Given the description of an element on the screen output the (x, y) to click on. 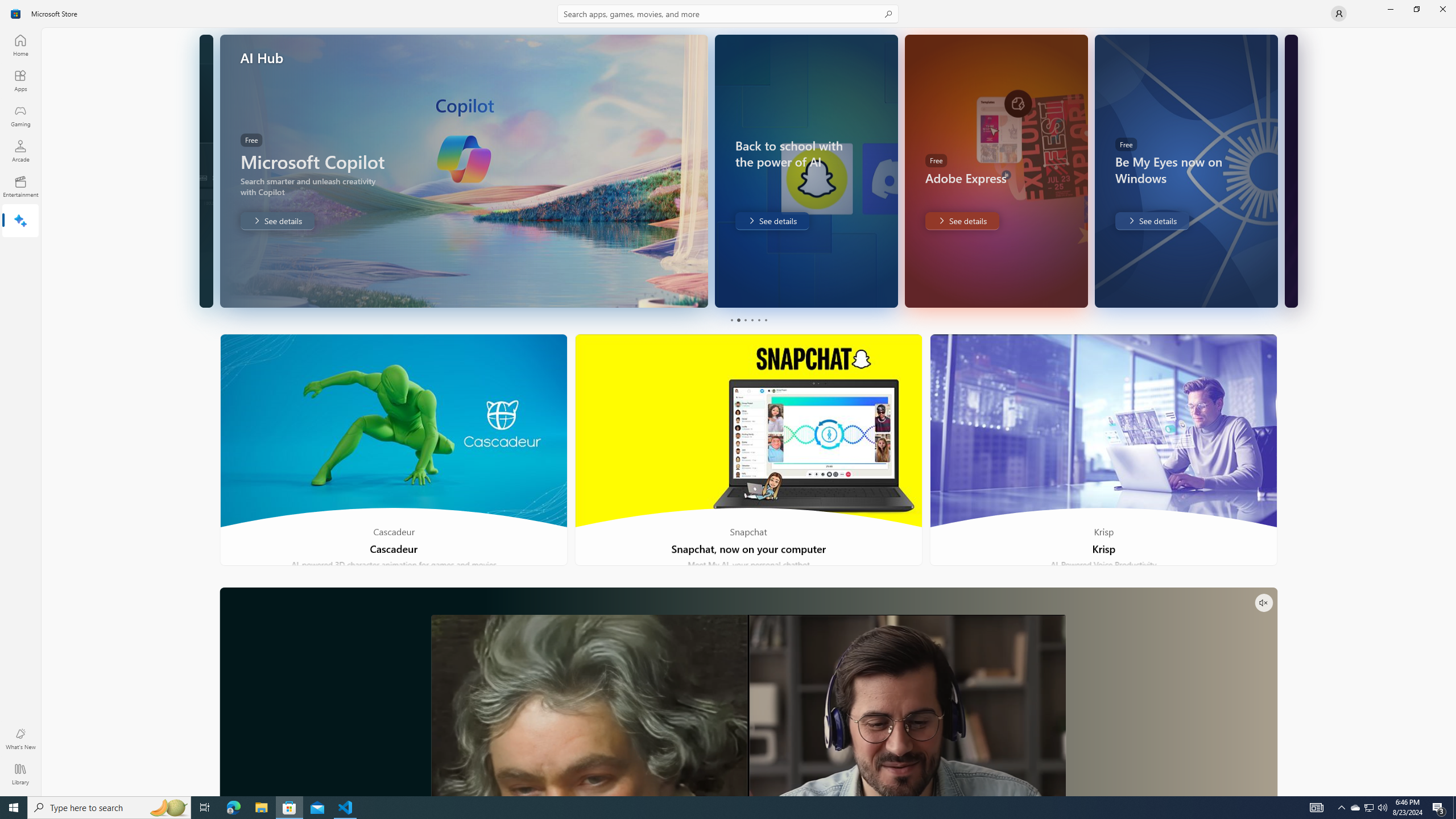
Snapchat, now on your computer (749, 449)
Page 2 (738, 319)
Page 5 (758, 319)
Page 4 (751, 319)
Cascadeur (393, 449)
AutomationID: NavigationControl (728, 398)
Unmute (1263, 602)
Become anyone on Zoom, Twitch, or any streaming video (747, 691)
